Given the description of an element on the screen output the (x, y) to click on. 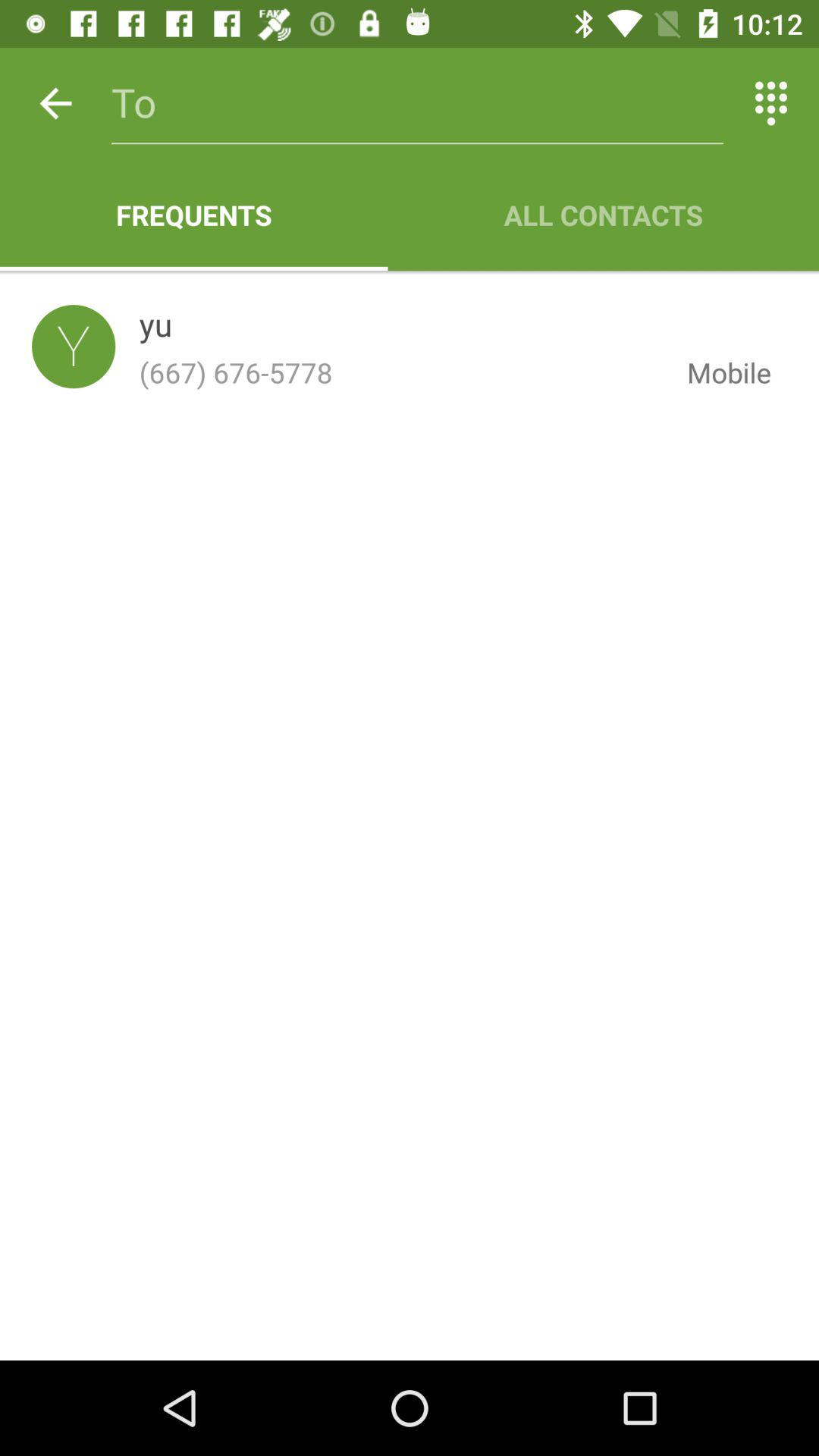
select icon next to the yu (73, 346)
